Given the description of an element on the screen output the (x, y) to click on. 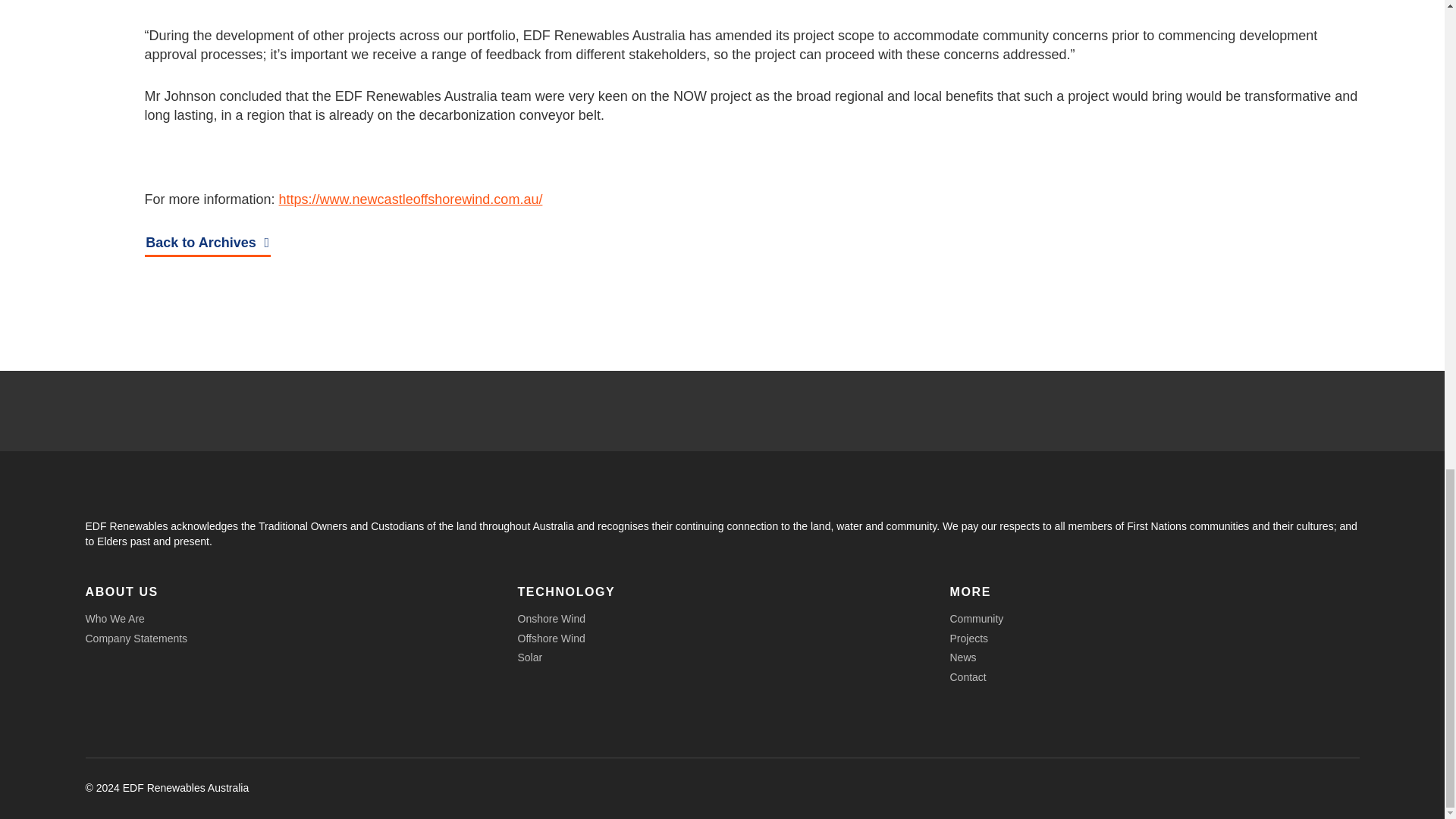
Who We Are (114, 618)
Back to Archives (206, 244)
ABOUT US (120, 591)
Company Statements (135, 638)
